Given the description of an element on the screen output the (x, y) to click on. 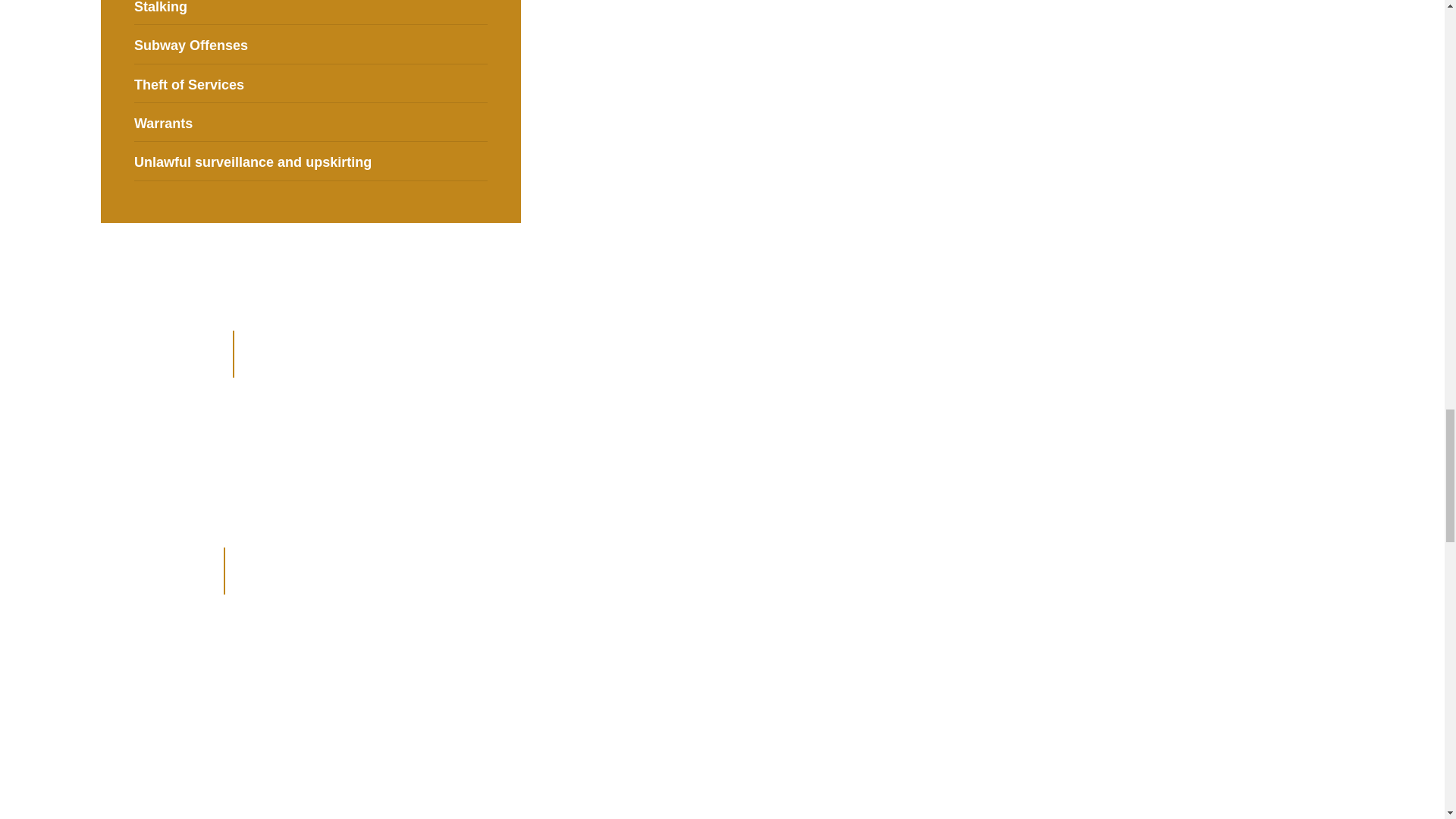
Open child menu of Theft of Services (480, 83)
